Given the description of an element on the screen output the (x, y) to click on. 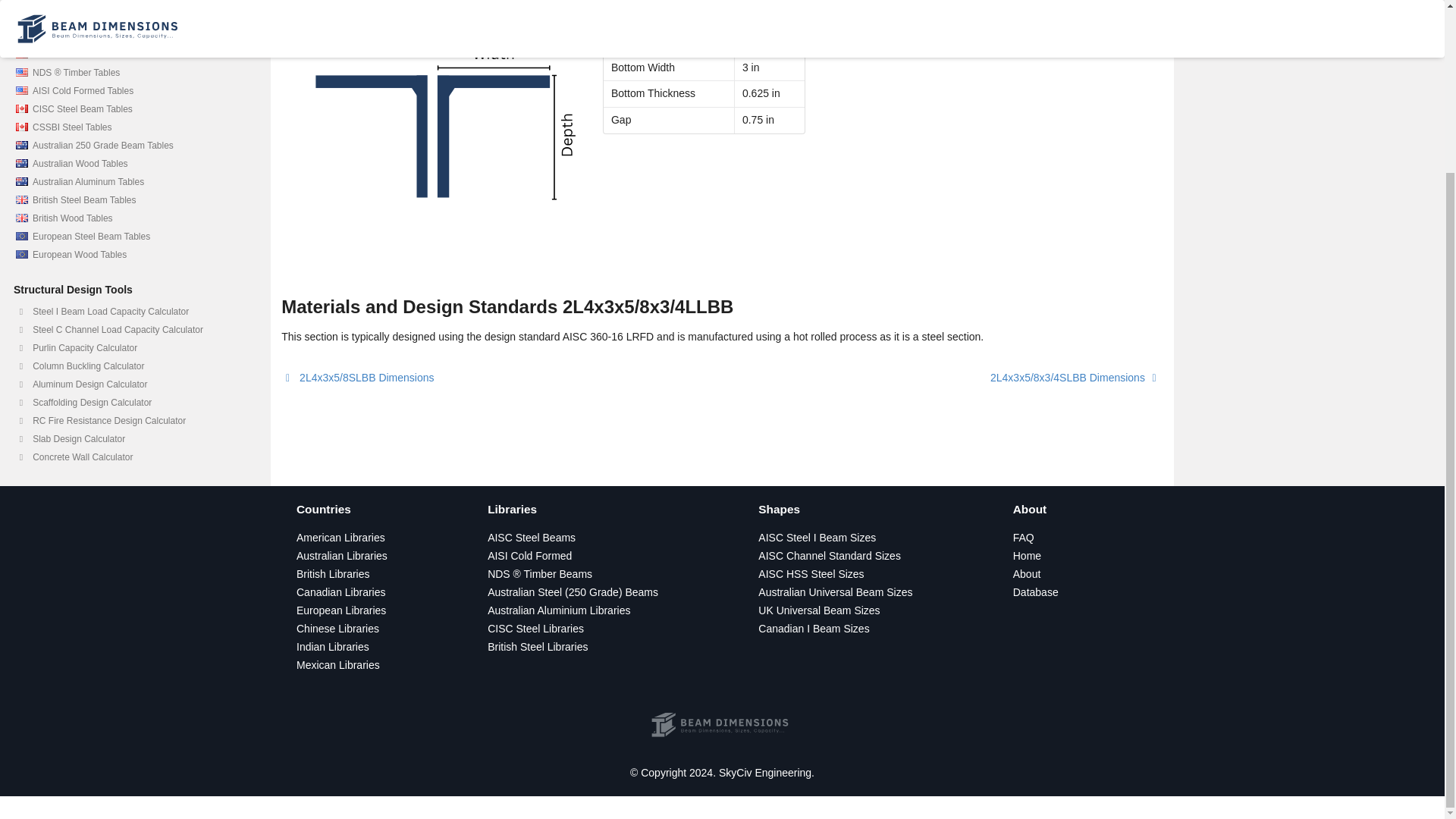
CISC Steel Beam Tables (131, 108)
Slab Design Calculator (131, 438)
Australian Wood Tables (131, 163)
Indian Libraries (333, 646)
British Libraries (333, 573)
European Wood Tables (131, 254)
Australian 250 Grade Beam Tables (131, 145)
Advertisement (1309, 156)
Purlin Capacity Calculator (131, 348)
Aluminum Design Calculator (131, 384)
CSSBI Steel Tables (131, 126)
Mexican Libraries (338, 664)
Canadian Libraries (341, 592)
Steel I Beam Load Capacity Calculator (131, 311)
American Libraries (341, 537)
